Given the description of an element on the screen output the (x, y) to click on. 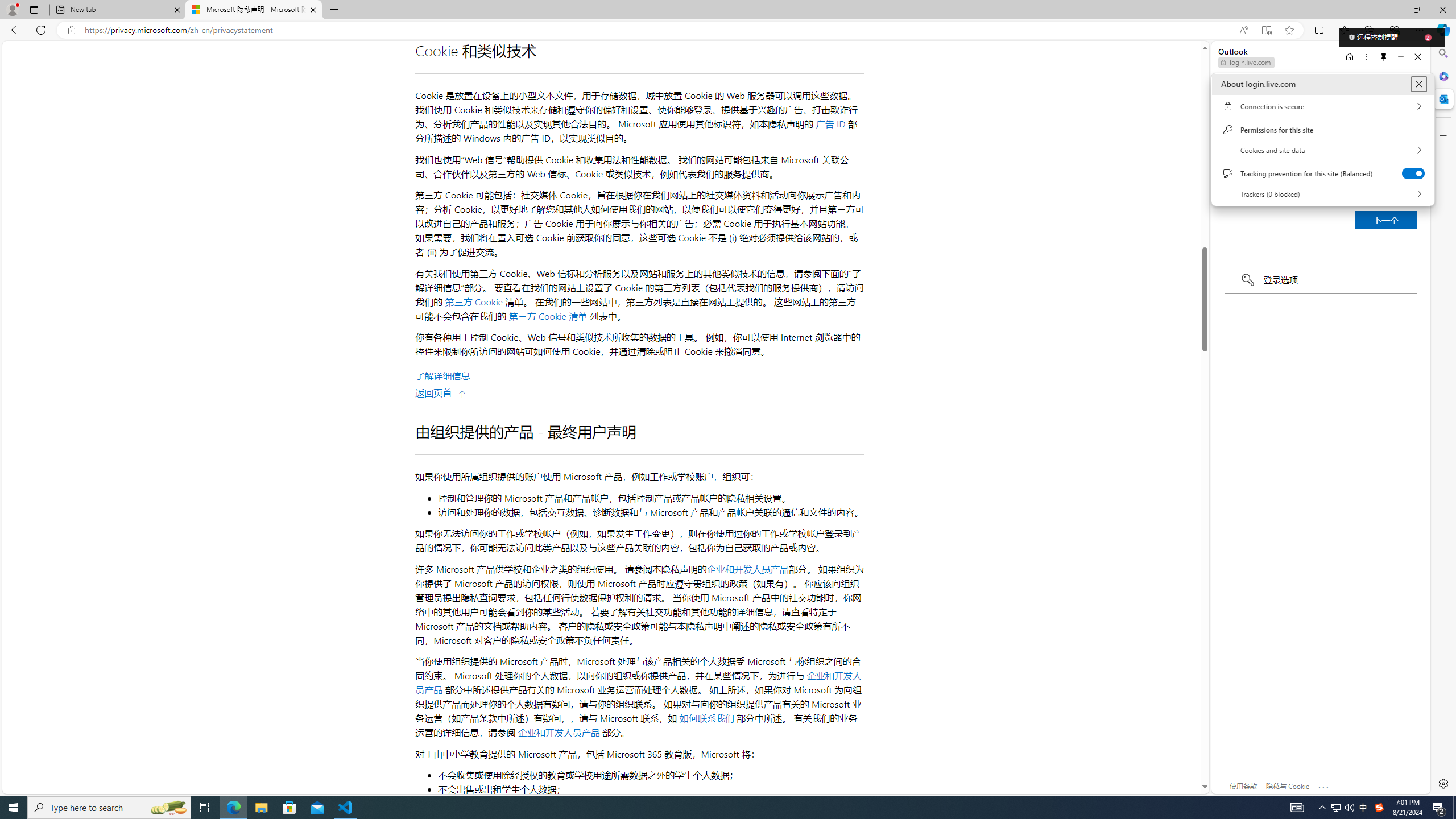
About login.live.com (1418, 83)
Permissions for this site (1322, 129)
